Given the description of an element on the screen output the (x, y) to click on. 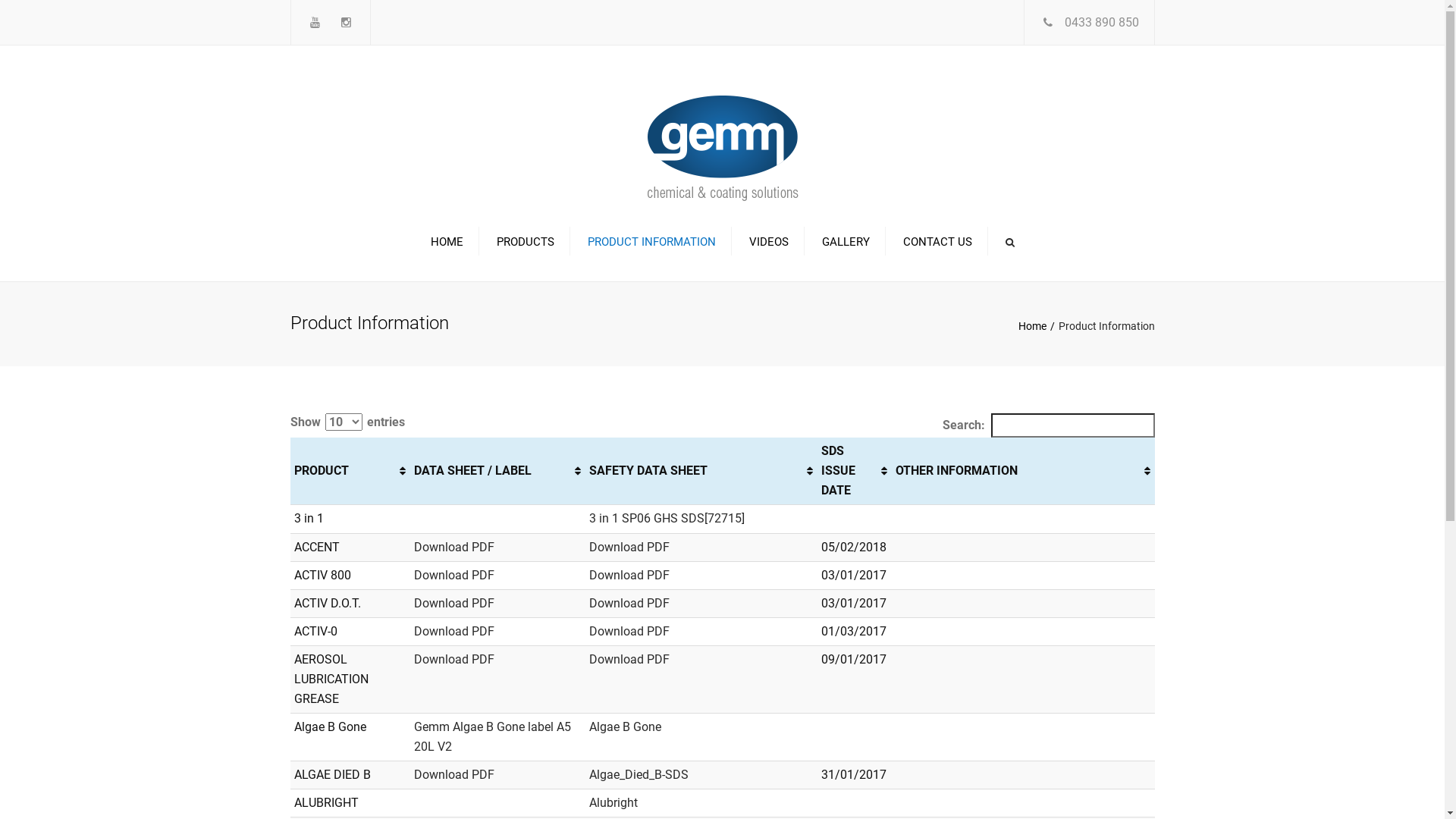
Download PDF Element type: text (454, 546)
Download PDF Element type: text (629, 546)
HOME Element type: text (450, 241)
Home Element type: text (1037, 326)
VIDEOS Element type: text (768, 241)
Download PDF Element type: text (629, 631)
GALLERY Element type: text (845, 241)
3 in 1 SP06 GHS SDS[72715] Element type: text (666, 518)
Download PDF Element type: text (629, 659)
Download PDF Element type: text (629, 574)
Download PDF Element type: text (629, 603)
Alubright Element type: text (613, 802)
Download PDF Element type: text (454, 603)
CONTACT US Element type: text (936, 241)
Algae B Gone Element type: text (625, 726)
Algae_Died_B-SDS Element type: text (638, 774)
PRODUCT INFORMATION Element type: text (650, 241)
Download PDF Element type: text (454, 574)
Download PDF Element type: text (454, 631)
Download PDF Element type: text (454, 659)
Gemm Algae B Gone label A5 20L V2 Element type: text (492, 736)
PRODUCTS Element type: text (524, 241)
Download PDF Element type: text (454, 774)
